Given the description of an element on the screen output the (x, y) to click on. 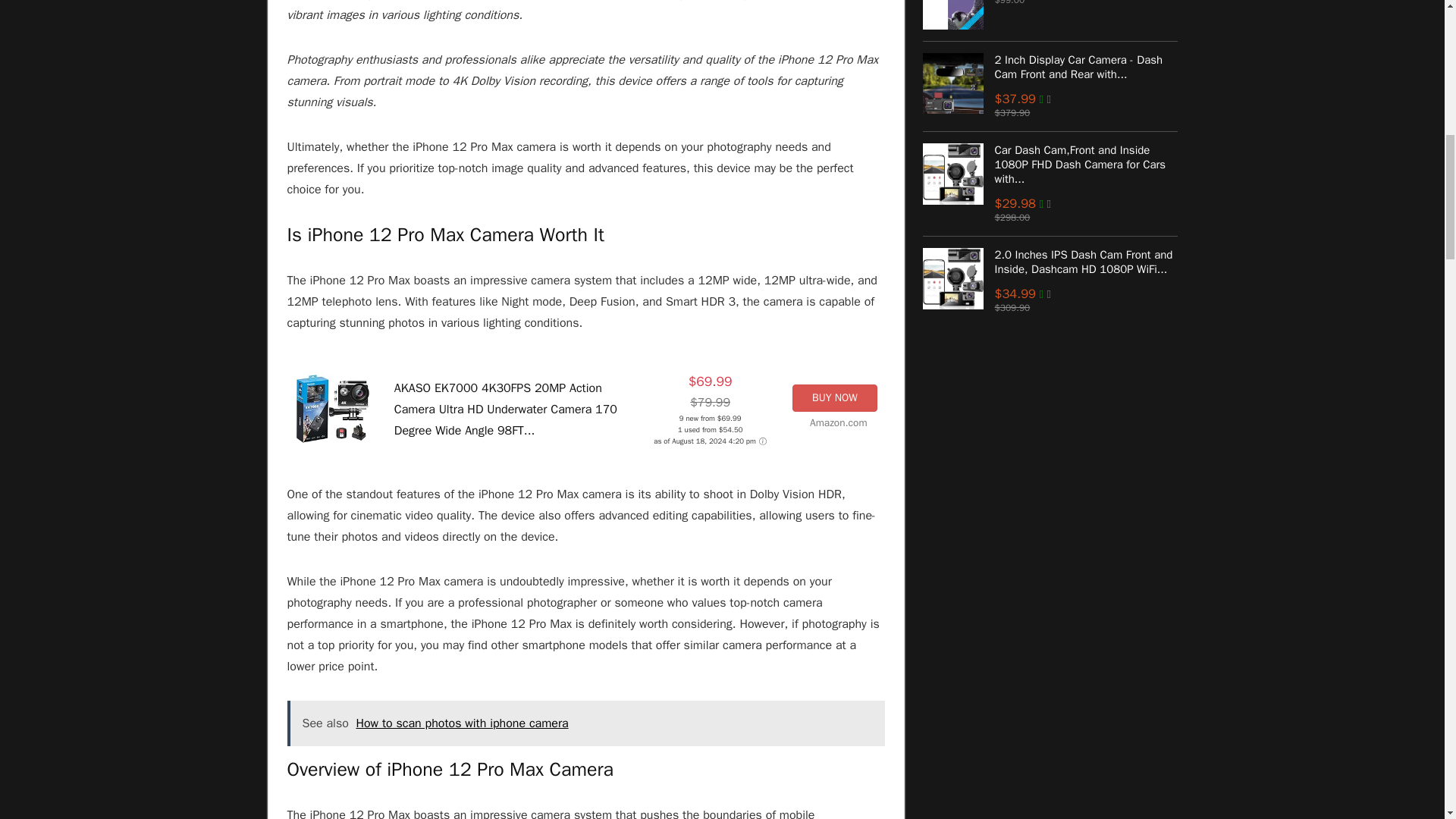
See also  How to scan photos with iphone camera (584, 723)
BUY NOW (834, 397)
